Given the description of an element on the screen output the (x, y) to click on. 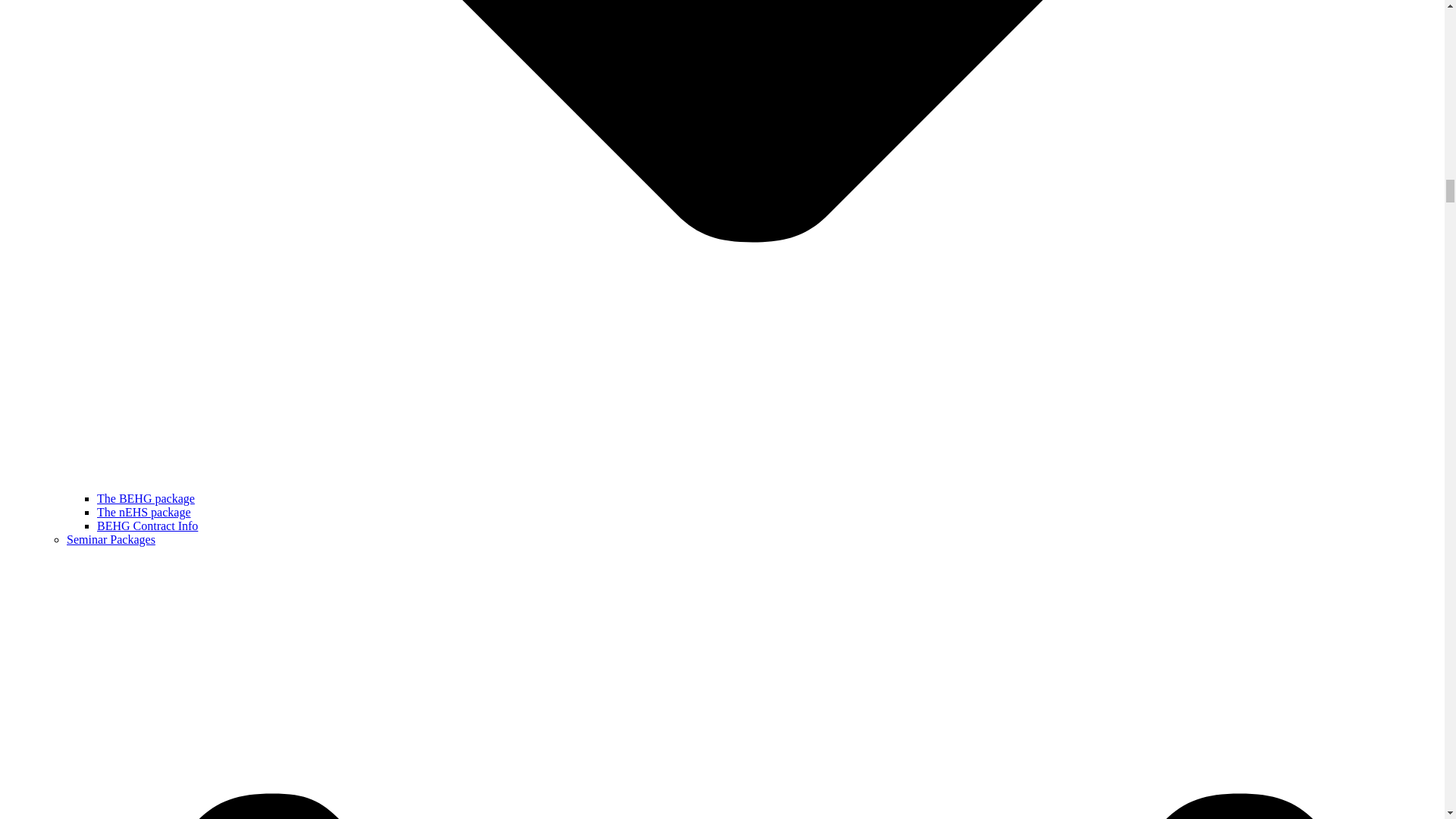
The nEHS package (143, 512)
BEHG Contract Info (147, 525)
The BEHG package (146, 498)
